Given the description of an element on the screen output the (x, y) to click on. 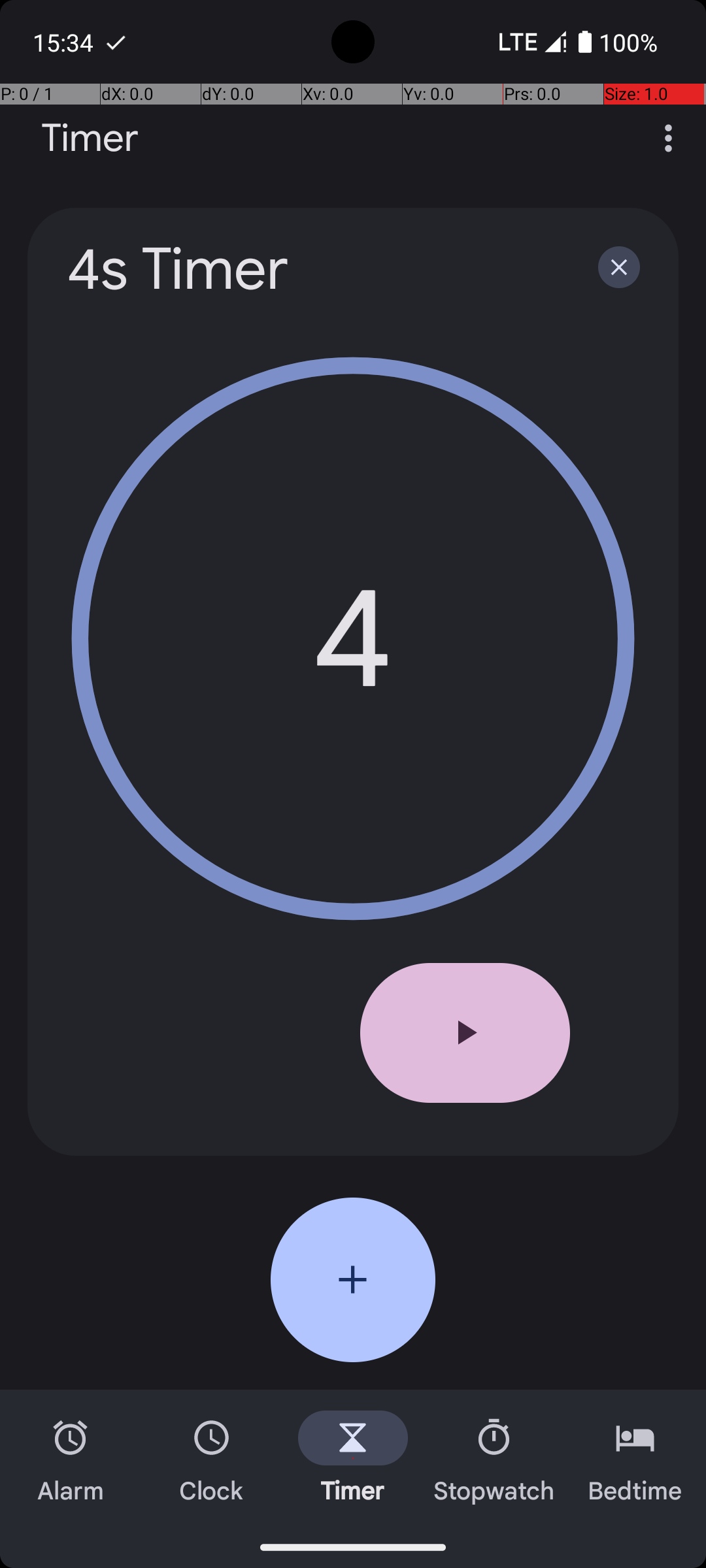
Add timer Element type: android.widget.Button (352, 1279)
4s Timer Element type: android.widget.TextView (315, 269)
